Given the description of an element on the screen output the (x, y) to click on. 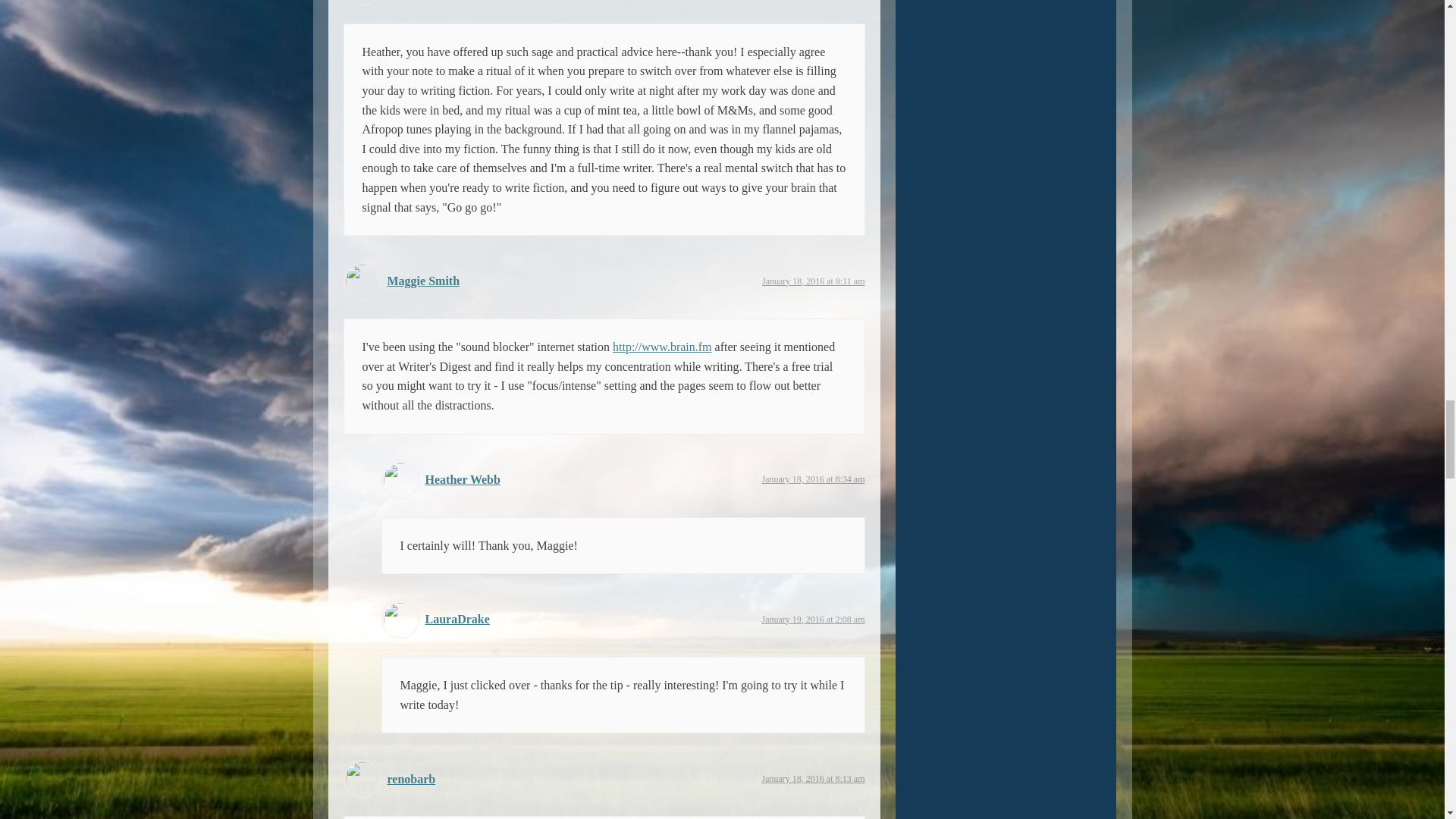
January 19, 2016 at 2:08 am (812, 619)
January 18, 2016 at 8:34 am (812, 479)
Maggie Smith (423, 280)
Heather Webb (462, 479)
LauraDrake (457, 618)
January 18, 2016 at 8:11 am (812, 281)
